Given the description of an element on the screen output the (x, y) to click on. 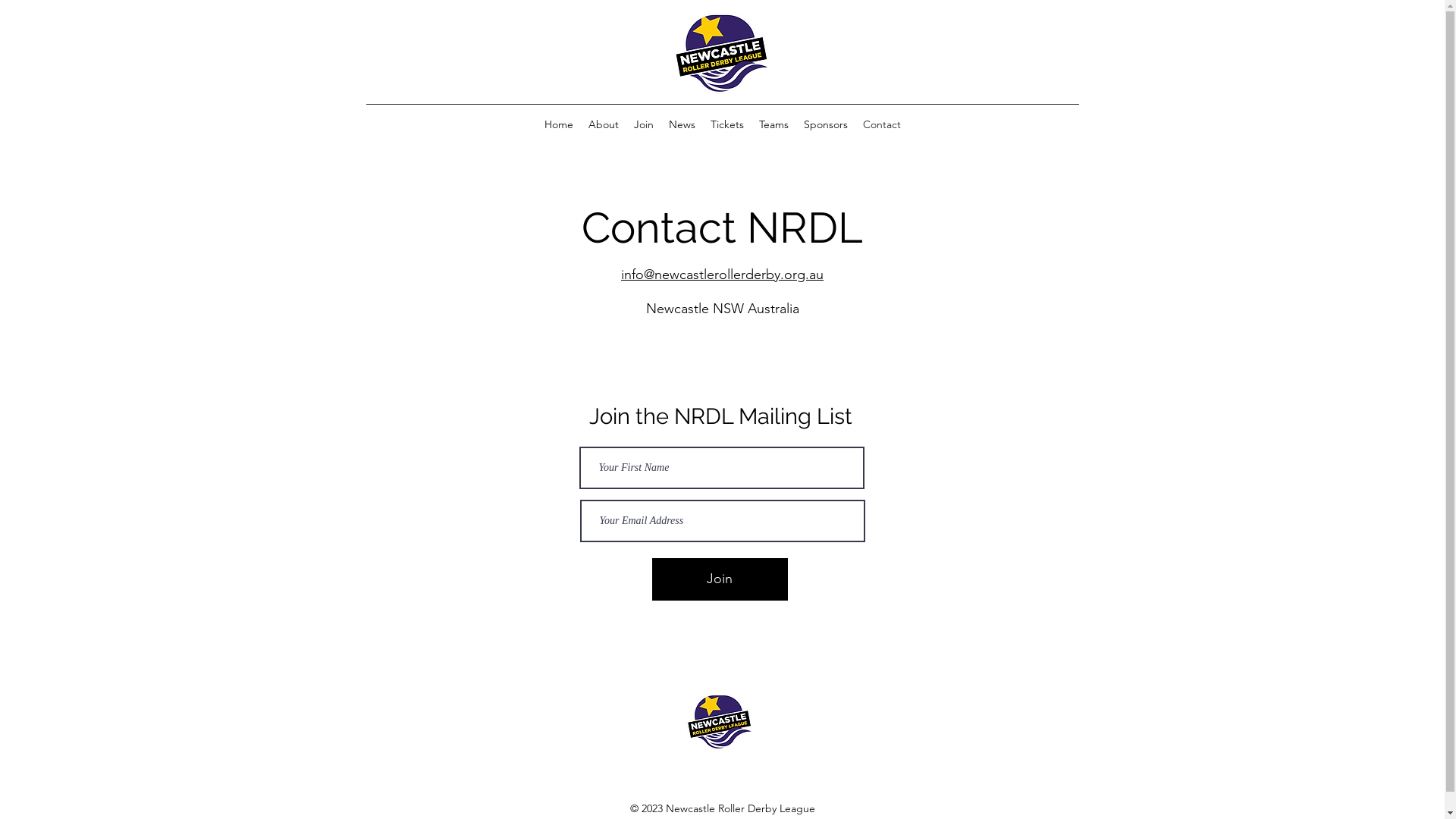
Home Element type: text (558, 123)
Tickets Element type: text (726, 123)
Teams Element type: text (772, 123)
Join Element type: text (643, 123)
NRDL-Logo-Cut-out-1024x833.png Element type: hover (719, 721)
NRDL-Logo-Cut-out-1024x833.png Element type: hover (721, 53)
info@newcastlerollerderby.org.au Element type: text (722, 274)
Contact Element type: text (881, 123)
Join Element type: text (719, 579)
Sponsors Element type: text (825, 123)
News Element type: text (681, 123)
About Element type: text (603, 123)
